Given the description of an element on the screen output the (x, y) to click on. 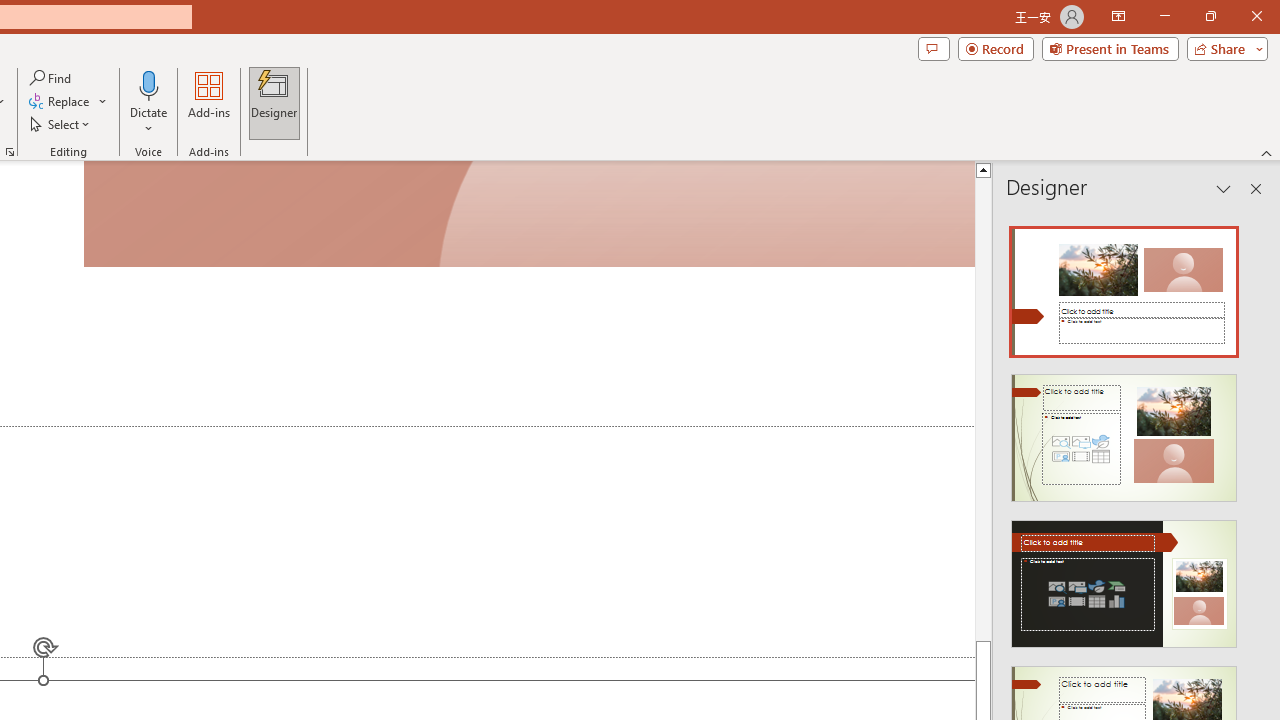
More Options (149, 121)
Design Idea (1124, 577)
Collapse the Ribbon (1267, 152)
Recommended Design: Design Idea (1124, 286)
Minimize (1164, 16)
Replace... (60, 101)
Share (1223, 48)
Restore Down (1210, 16)
Format Object... (9, 151)
Replace... (68, 101)
Close (1256, 16)
Find... (51, 78)
